Given the description of an element on the screen output the (x, y) to click on. 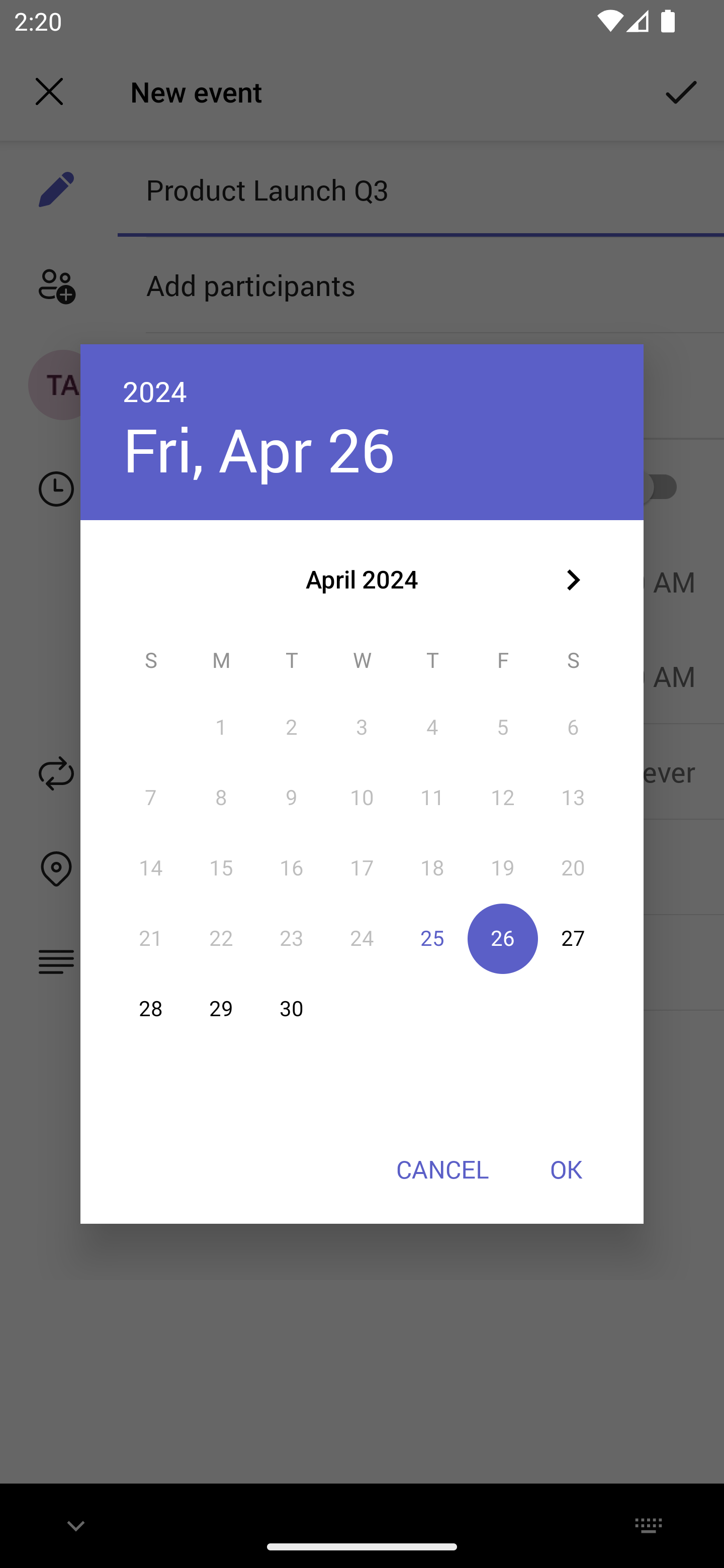
2024 (154, 391)
Fri, Apr 26 (258, 449)
Next month (572, 579)
1 01 April 2024 (221, 728)
2 02 April 2024 (291, 728)
3 03 April 2024 (361, 728)
4 04 April 2024 (432, 728)
5 05 April 2024 (502, 728)
6 06 April 2024 (572, 728)
7 07 April 2024 (150, 797)
8 08 April 2024 (221, 797)
9 09 April 2024 (291, 797)
10 10 April 2024 (361, 797)
11 11 April 2024 (432, 797)
12 12 April 2024 (502, 797)
13 13 April 2024 (572, 797)
14 14 April 2024 (150, 867)
15 15 April 2024 (221, 867)
16 16 April 2024 (291, 867)
17 17 April 2024 (361, 867)
18 18 April 2024 (432, 867)
19 19 April 2024 (502, 867)
20 20 April 2024 (572, 867)
21 21 April 2024 (150, 938)
22 22 April 2024 (221, 938)
23 23 April 2024 (291, 938)
24 24 April 2024 (361, 938)
25 25 April 2024 (432, 938)
26 26 April 2024 (502, 938)
27 27 April 2024 (572, 938)
28 28 April 2024 (150, 1008)
29 29 April 2024 (221, 1008)
30 30 April 2024 (291, 1008)
CANCEL (442, 1168)
OK (565, 1168)
